Given the description of an element on the screen output the (x, y) to click on. 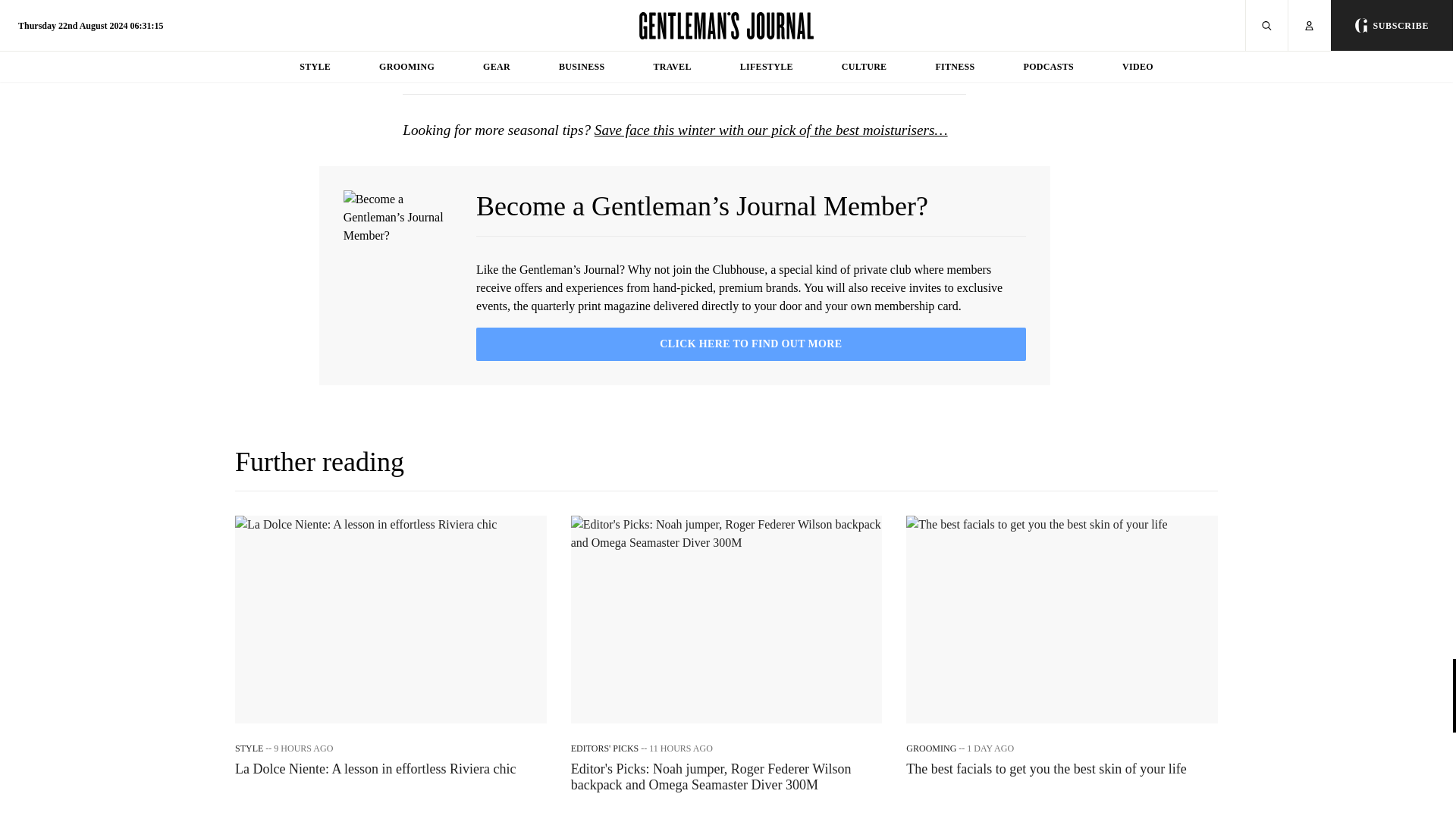
BUY NOW (903, 67)
CLICK HERE TO FIND OUT MORE (751, 344)
